Given the description of an element on the screen output the (x, y) to click on. 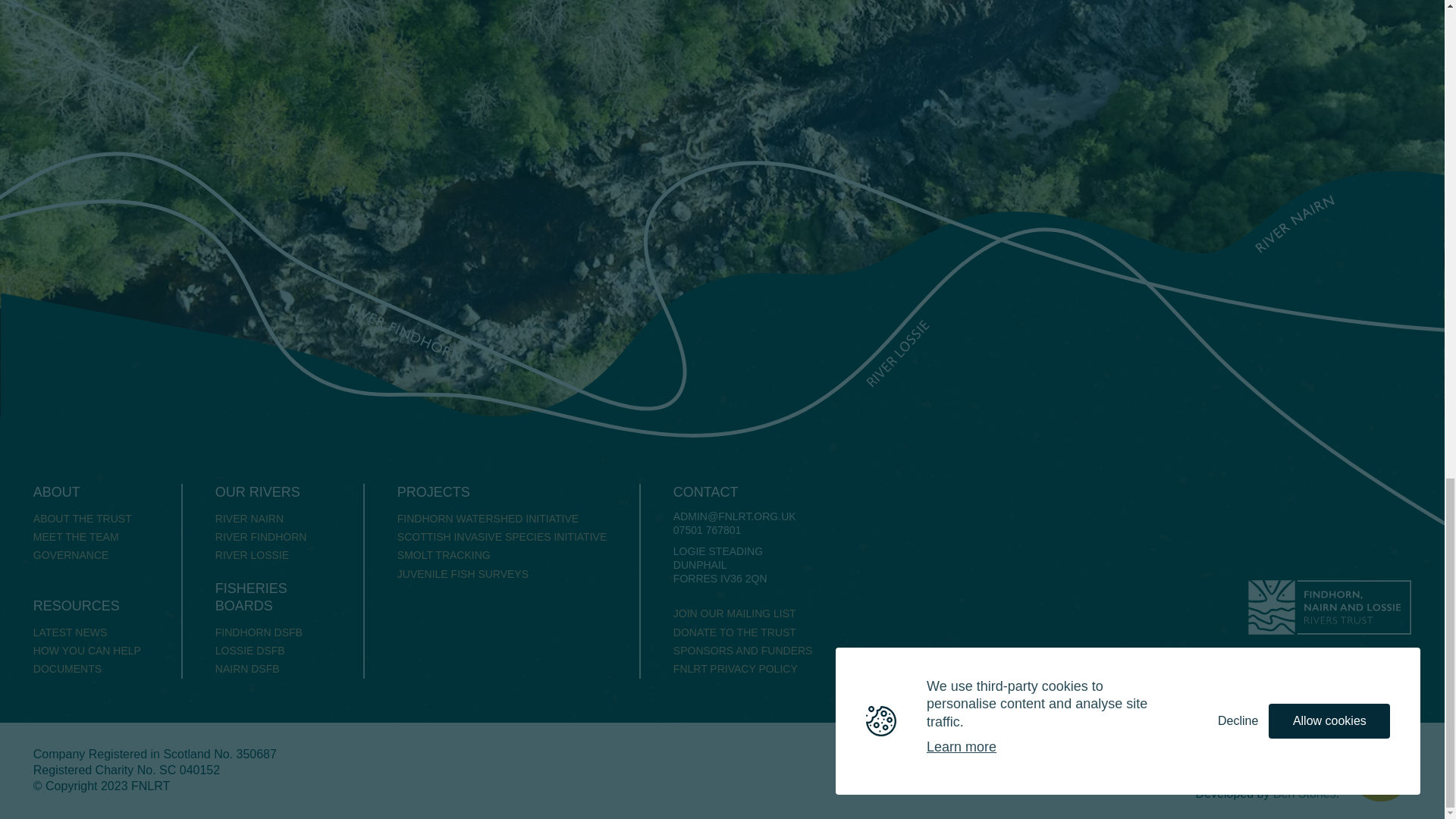
FINDHORN DSFB (258, 632)
RIVER NAIRN (249, 518)
RIVER FINDHORN (261, 536)
FINDHORN WATERSHED INITIATIVE (487, 518)
Find Findhorn, Nairn and Lossie Rivers Trust on Facebook (1350, 667)
Find Findhorn, Nairn and Lossie Rivers Trust on Twitter (1375, 667)
LATEST NEWS (70, 632)
GOVERNANCE (71, 554)
DOCUMENTS (67, 668)
RIVER LOSSIE (251, 554)
